Given the description of an element on the screen output the (x, y) to click on. 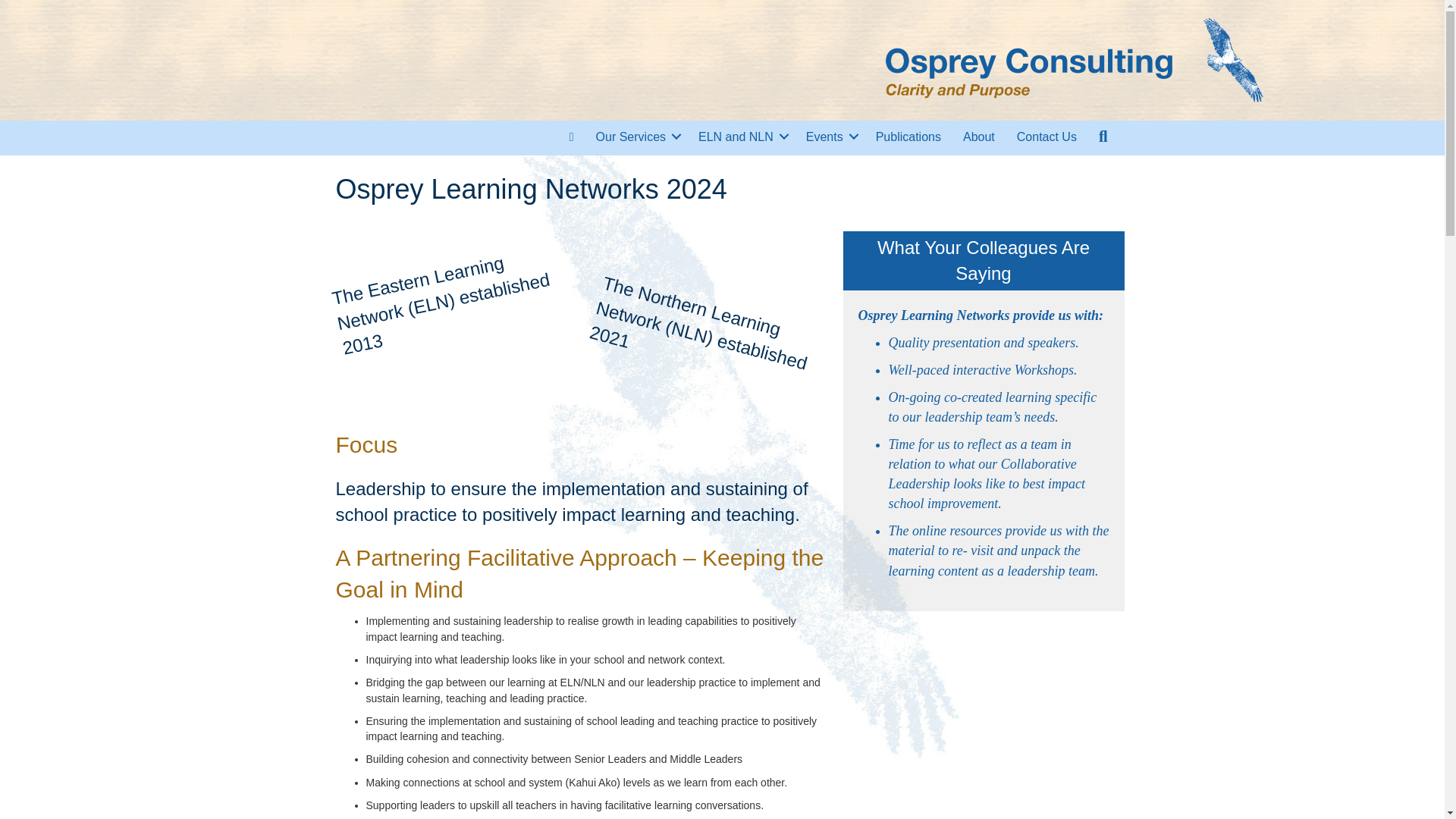
Publications (908, 136)
Search (1105, 136)
Our Services (636, 136)
Contact Us (1046, 136)
Events (829, 136)
About (979, 136)
ELN and NLN (740, 136)
osprey-letterhead-transparent-web-banner (1075, 60)
